Given the description of an element on the screen output the (x, y) to click on. 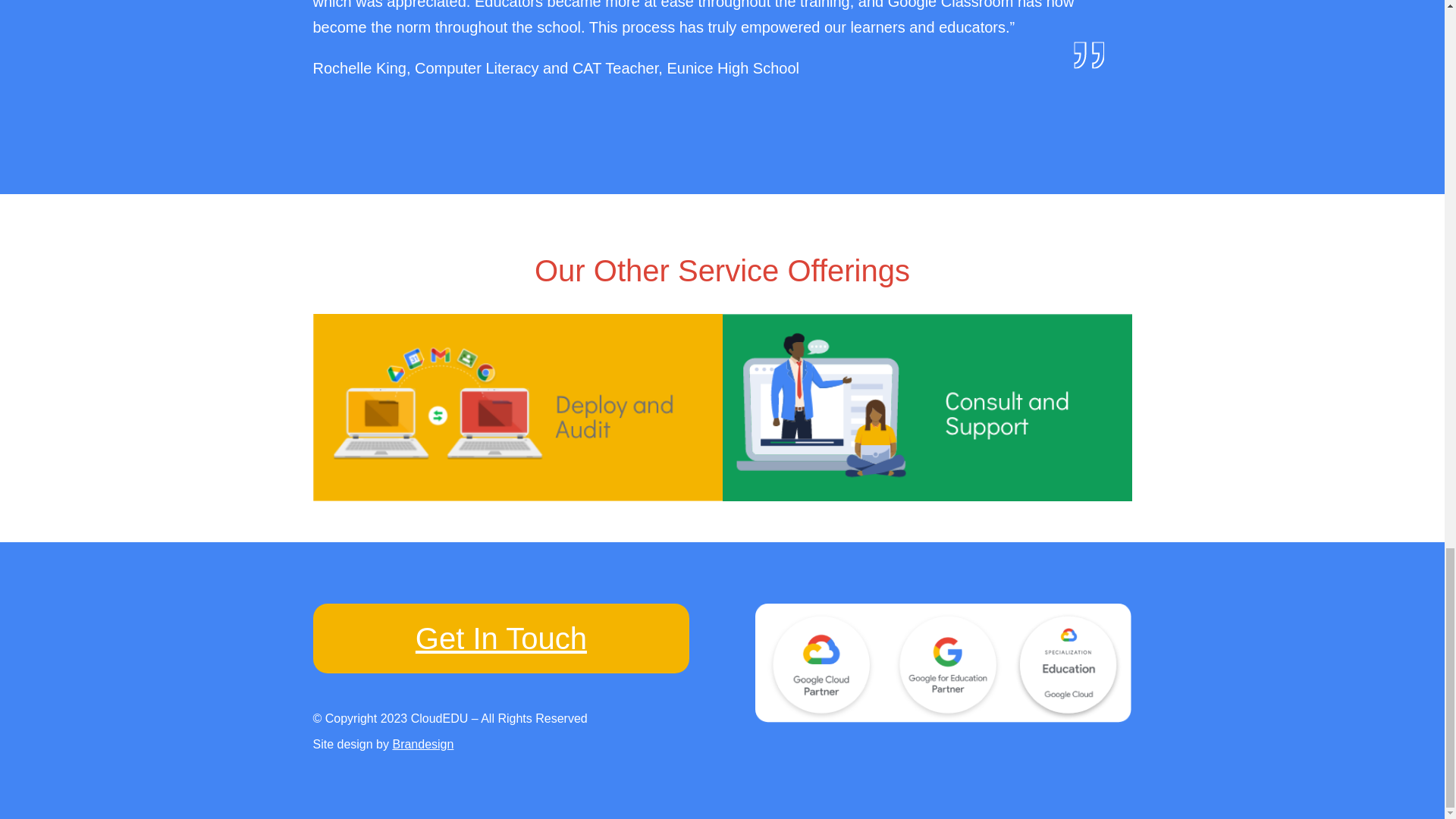
Deploy and Audit - CloudEdu (517, 407)
Consult and Support - CloudEdu (926, 407)
google-partners (943, 662)
